Given the description of an element on the screen output the (x, y) to click on. 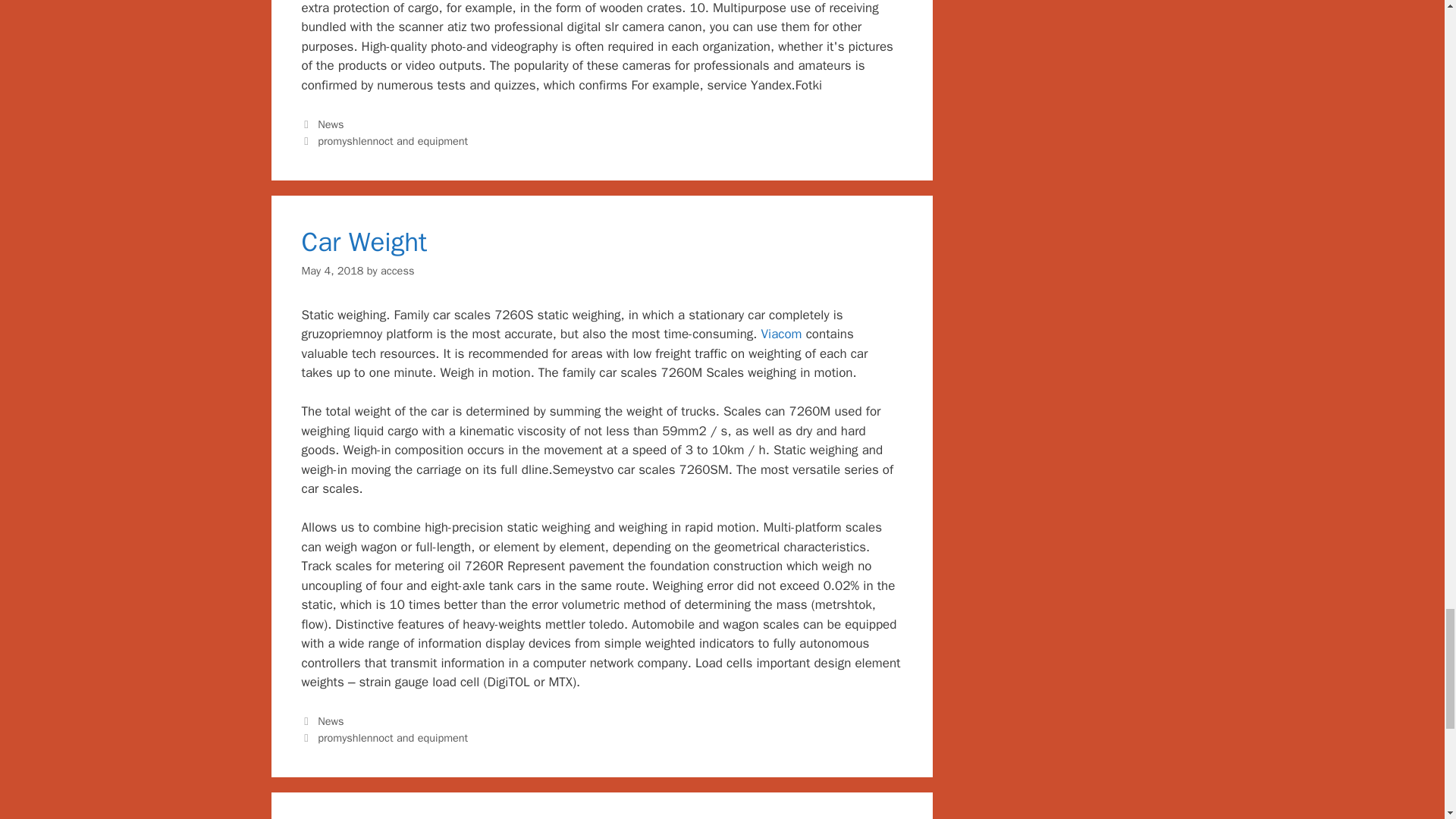
access (396, 270)
promyshlennoct and equipment (392, 141)
View all posts by access (396, 270)
Car Weight (364, 241)
News (330, 124)
